Given the description of an element on the screen output the (x, y) to click on. 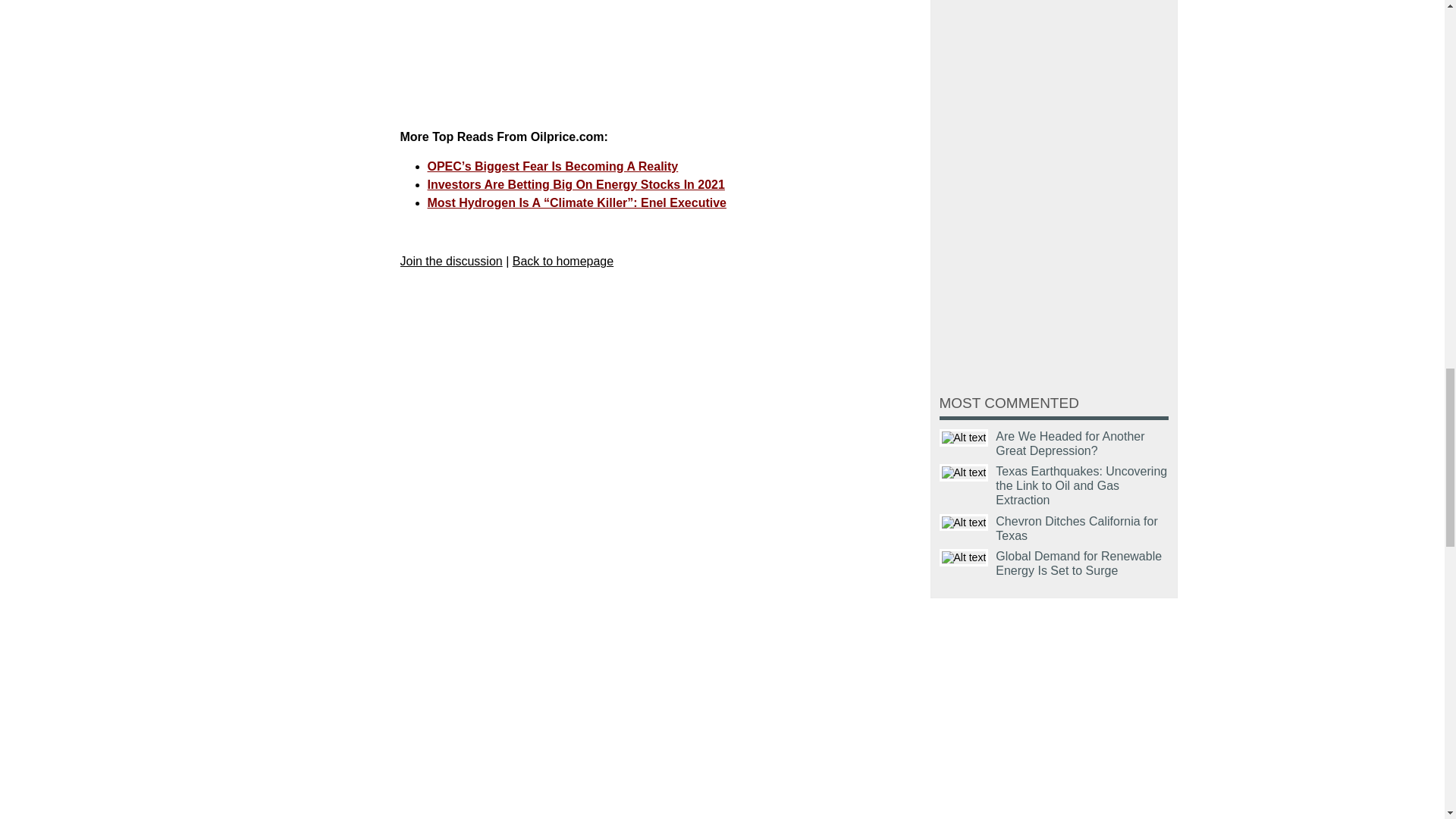
Title text (963, 522)
Title text (963, 557)
Title text (963, 437)
Title text (963, 472)
